Given the description of an element on the screen output the (x, y) to click on. 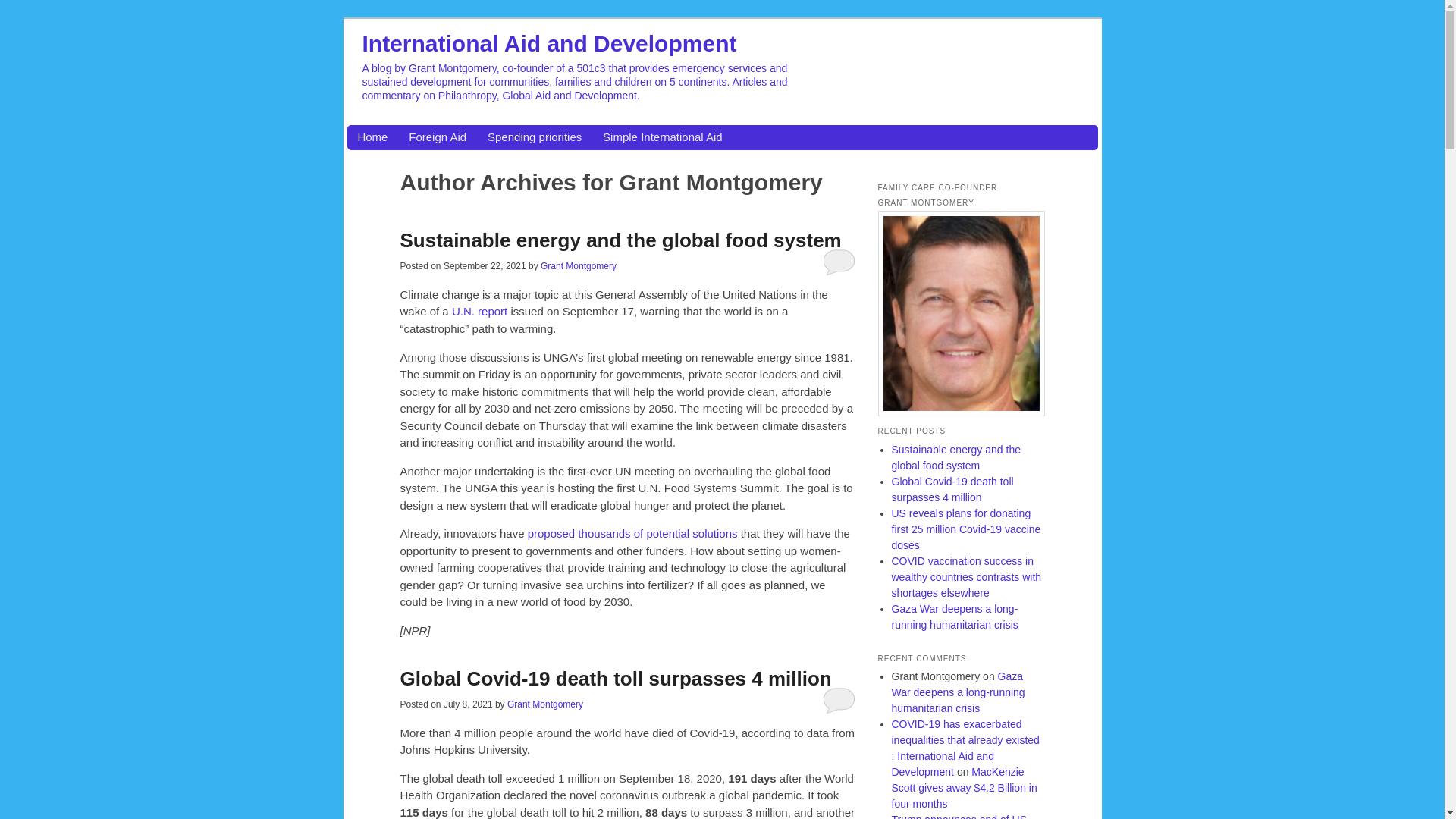
Home (371, 137)
Global Covid-19 death toll surpasses 4 million (615, 678)
International Aid and Development (549, 42)
U.N. report (478, 310)
Foreign Aid (437, 137)
Posts by Grant Montgomery (544, 704)
proposed thousands of potential solutions (632, 533)
Grant Montgomery (544, 704)
Sustainable energy and the global food system  (623, 240)
Posts by Grant Montgomery (577, 266)
Simple International Aid (662, 137)
Spending priorities (533, 137)
Global Covid-19 death toll surpasses 4 million (615, 678)
Grant Montgomery (577, 266)
